Given the description of an element on the screen output the (x, y) to click on. 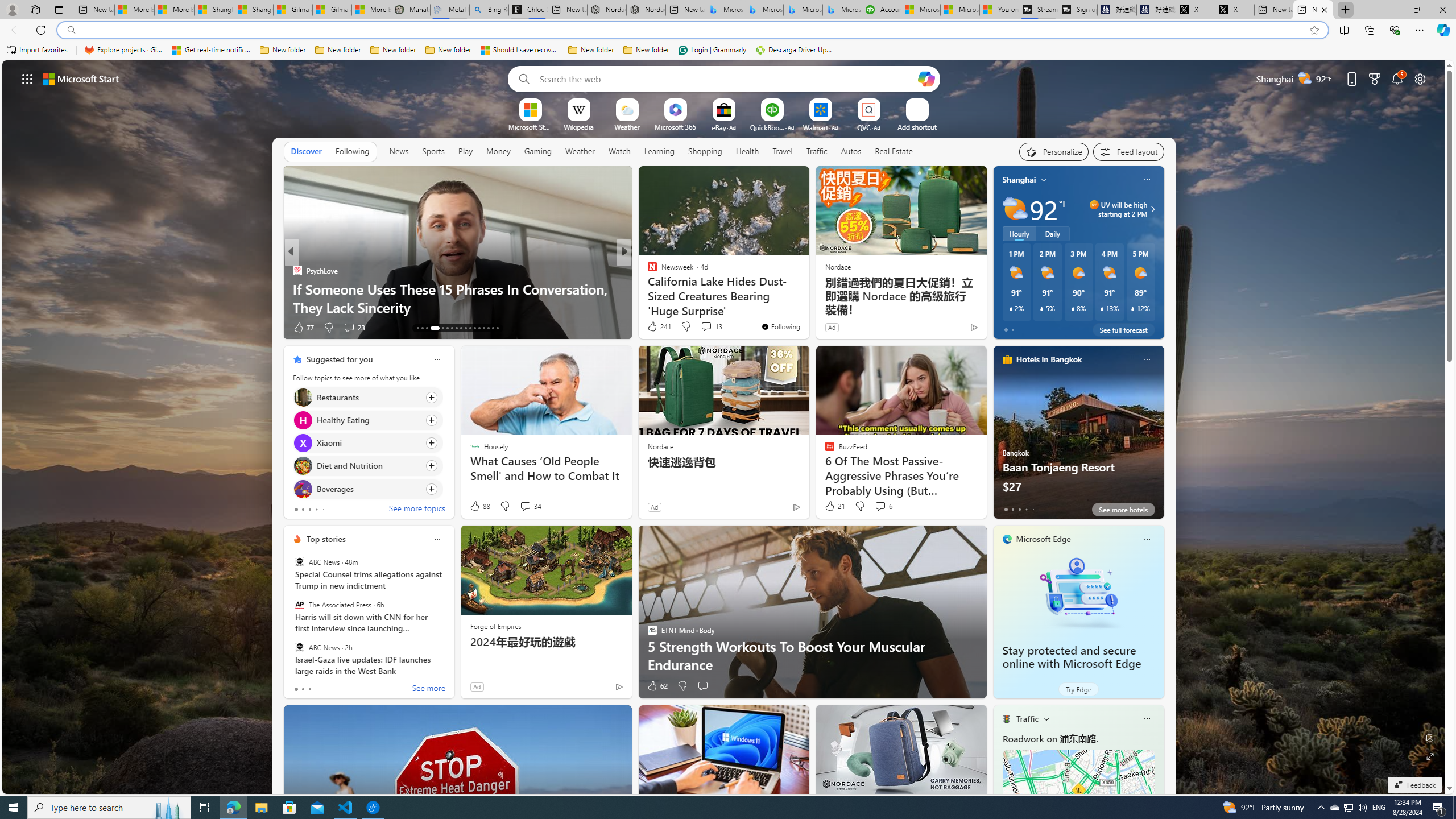
AutomationID: tab-28 (492, 328)
View comments 22 Comment (707, 327)
Partly sunny (1014, 208)
Login | Grammarly (712, 49)
Import favorites (36, 49)
Class: weather-arrow-glyph (1152, 208)
tab-4 (1032, 509)
AutomationID: backgroundImagePicture (723, 426)
View comments 6 Comment (882, 505)
